Given the description of an element on the screen output the (x, y) to click on. 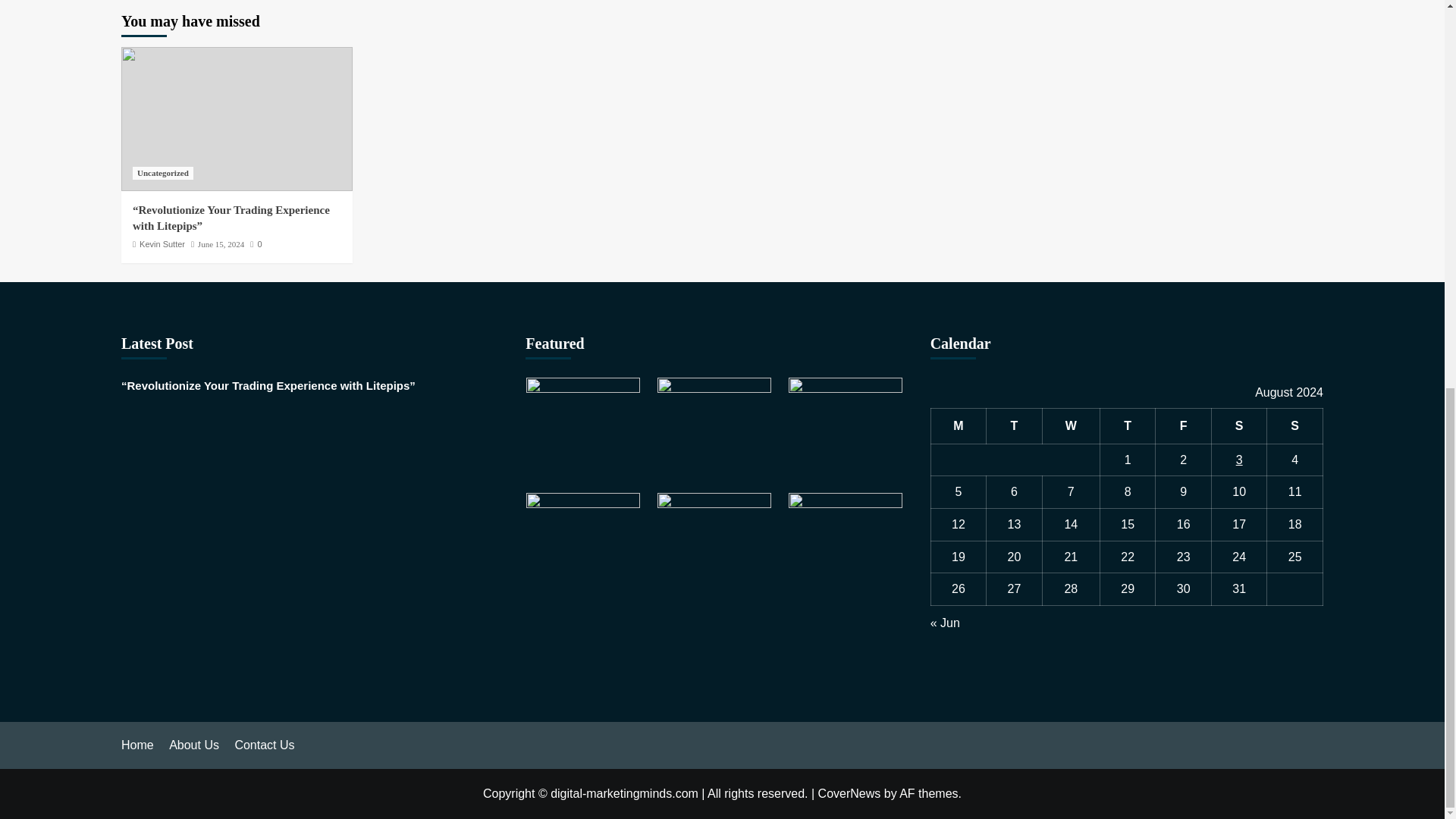
Uncategorized (162, 173)
June 15, 2024 (221, 243)
0 (256, 243)
Kevin Sutter (161, 243)
Sunday (1294, 426)
Thursday (1127, 426)
Tuesday (1014, 426)
Friday (1183, 426)
Monday (958, 426)
Wednesday (1070, 426)
Saturday (1238, 426)
